Given the description of an element on the screen output the (x, y) to click on. 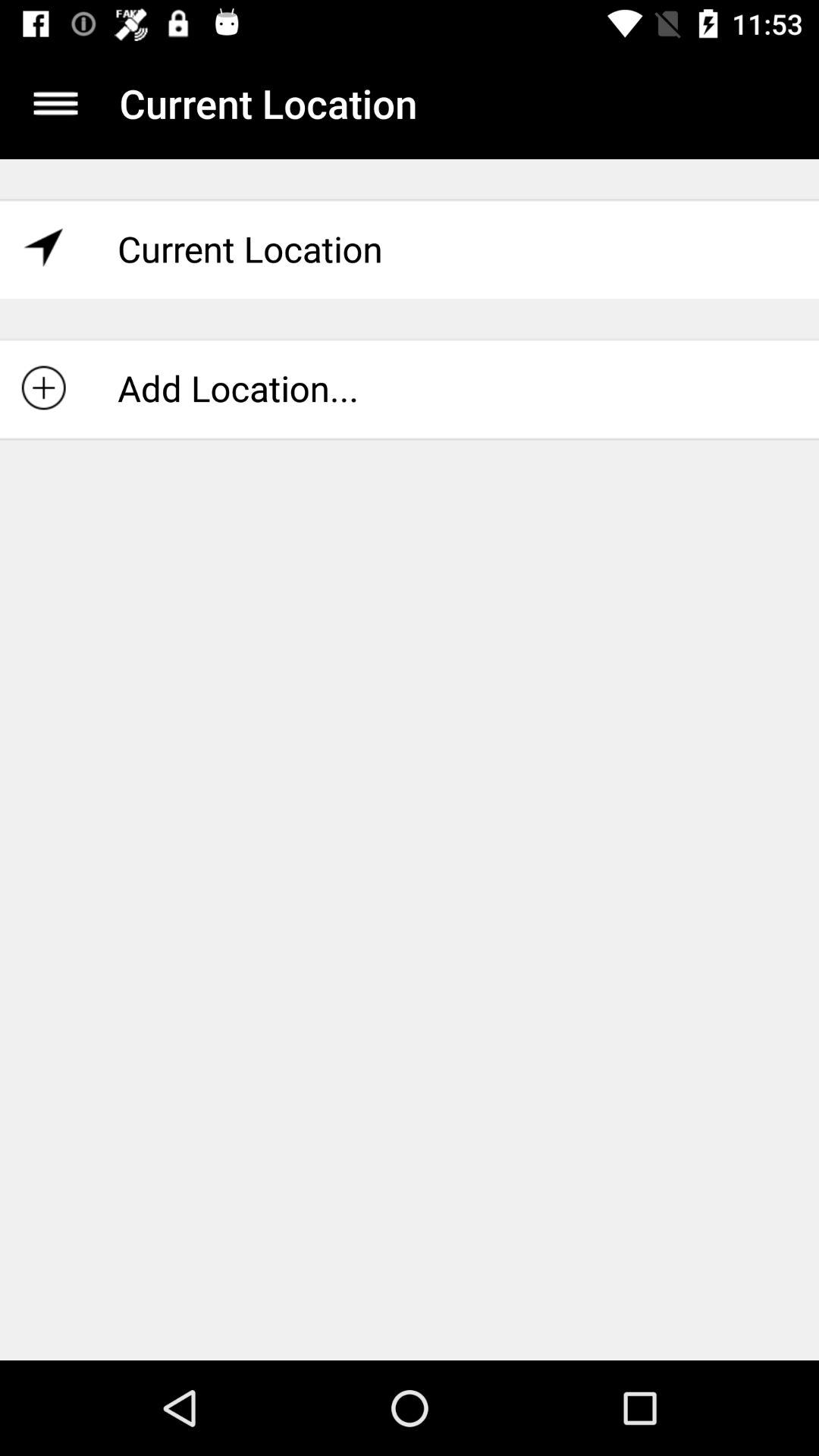
go to menu (55, 103)
